Given the description of an element on the screen output the (x, y) to click on. 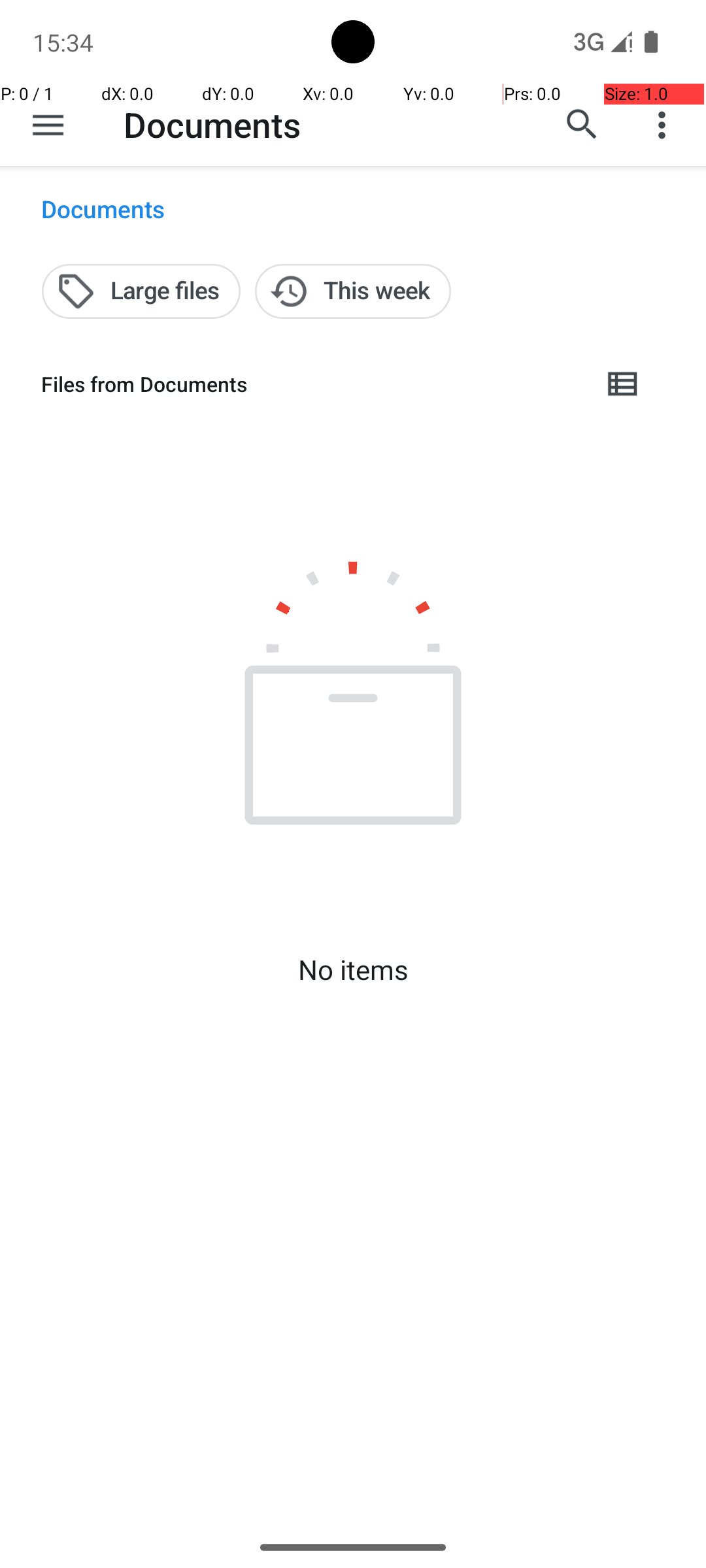
Files from Documents Element type: android.widget.TextView (311, 383)
